Given the description of an element on the screen output the (x, y) to click on. 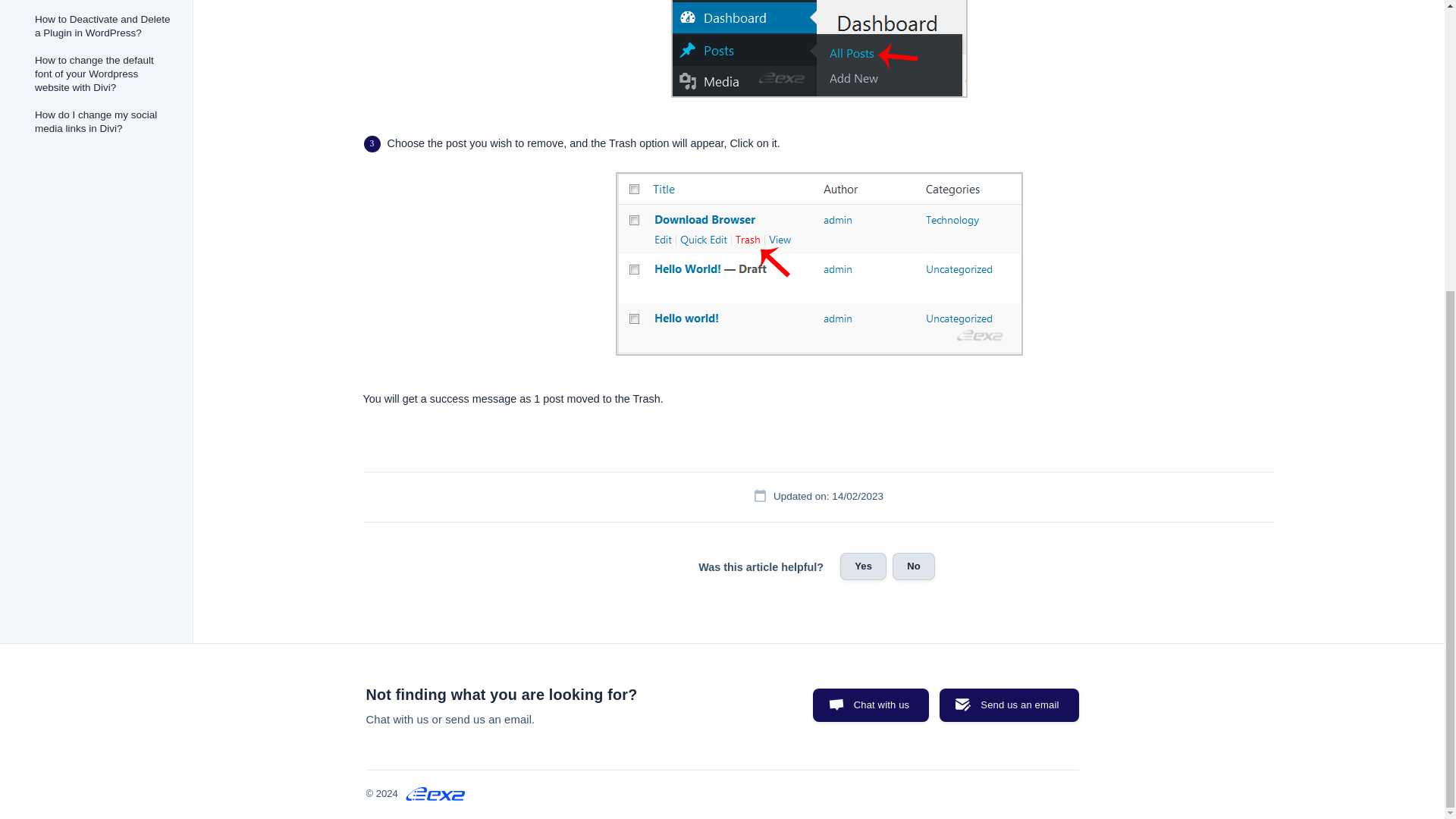
Chat with us (871, 704)
How to Deactivate and Delete a Plugin in WordPress? (102, 25)
Ex2 theme customizer: Container (102, 2)
How do I change my social media links in Divi? (102, 121)
Yes (863, 565)
No (913, 565)
Send us an email (1008, 704)
